Given the description of an element on the screen output the (x, y) to click on. 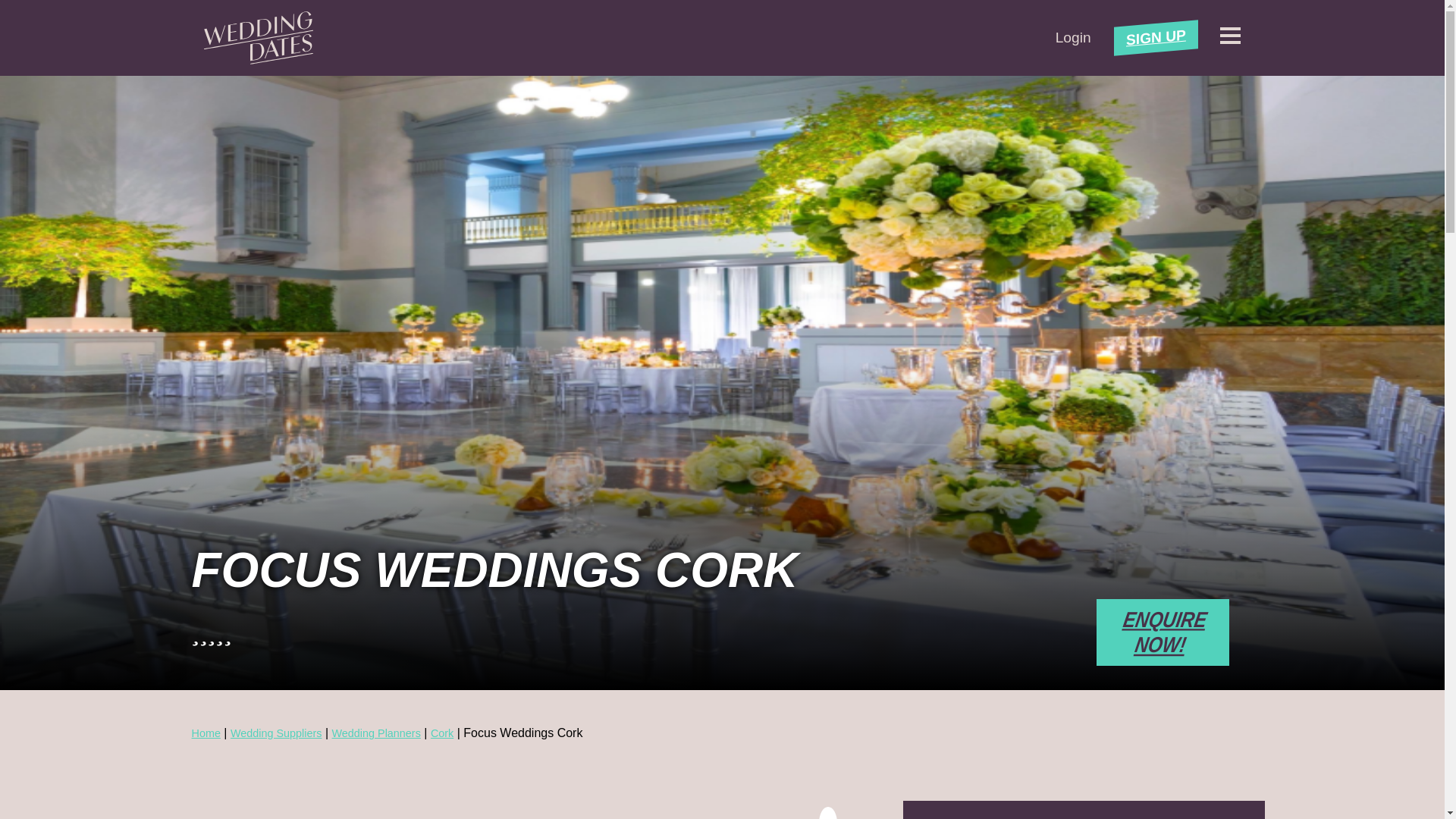
ENQUIRE NOW! (1162, 631)
Login (1072, 37)
weddingdates (258, 37)
Home (204, 733)
SIGN UP (1155, 33)
Wedding Suppliers (275, 733)
